Given the description of an element on the screen output the (x, y) to click on. 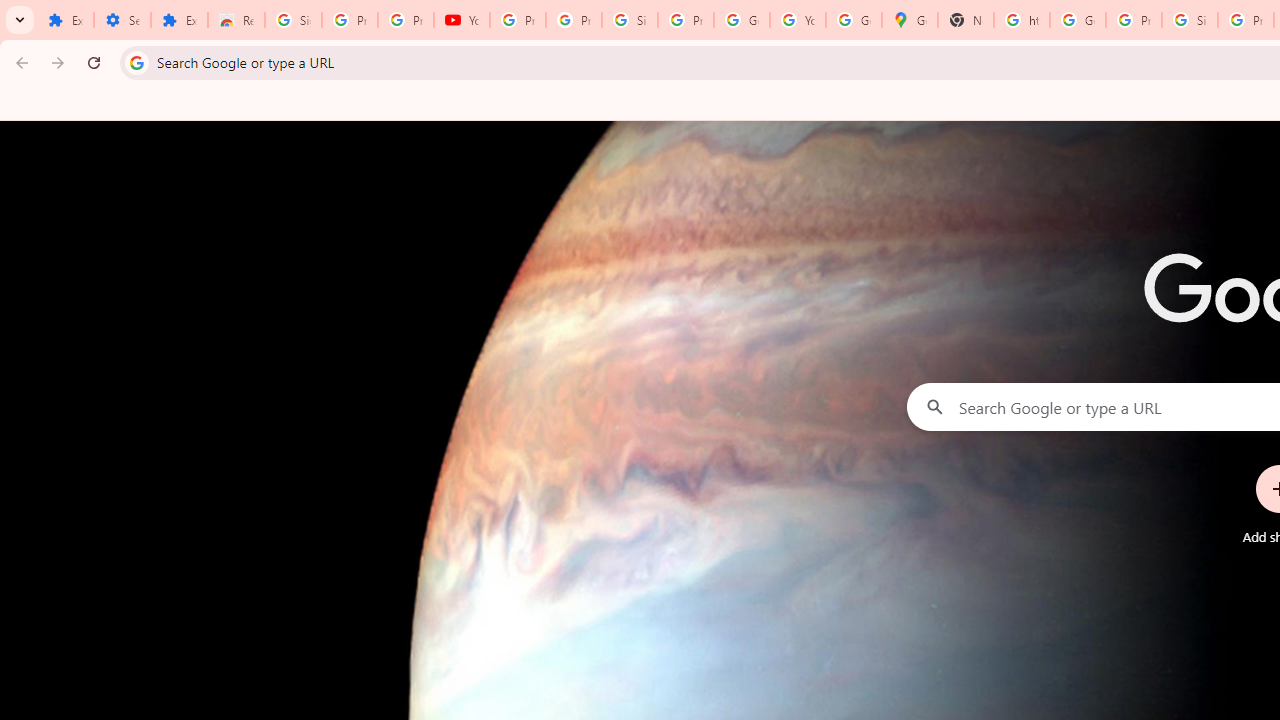
Extensions (65, 20)
New Tab (966, 20)
YouTube (461, 20)
Extensions (179, 20)
